Given the description of an element on the screen output the (x, y) to click on. 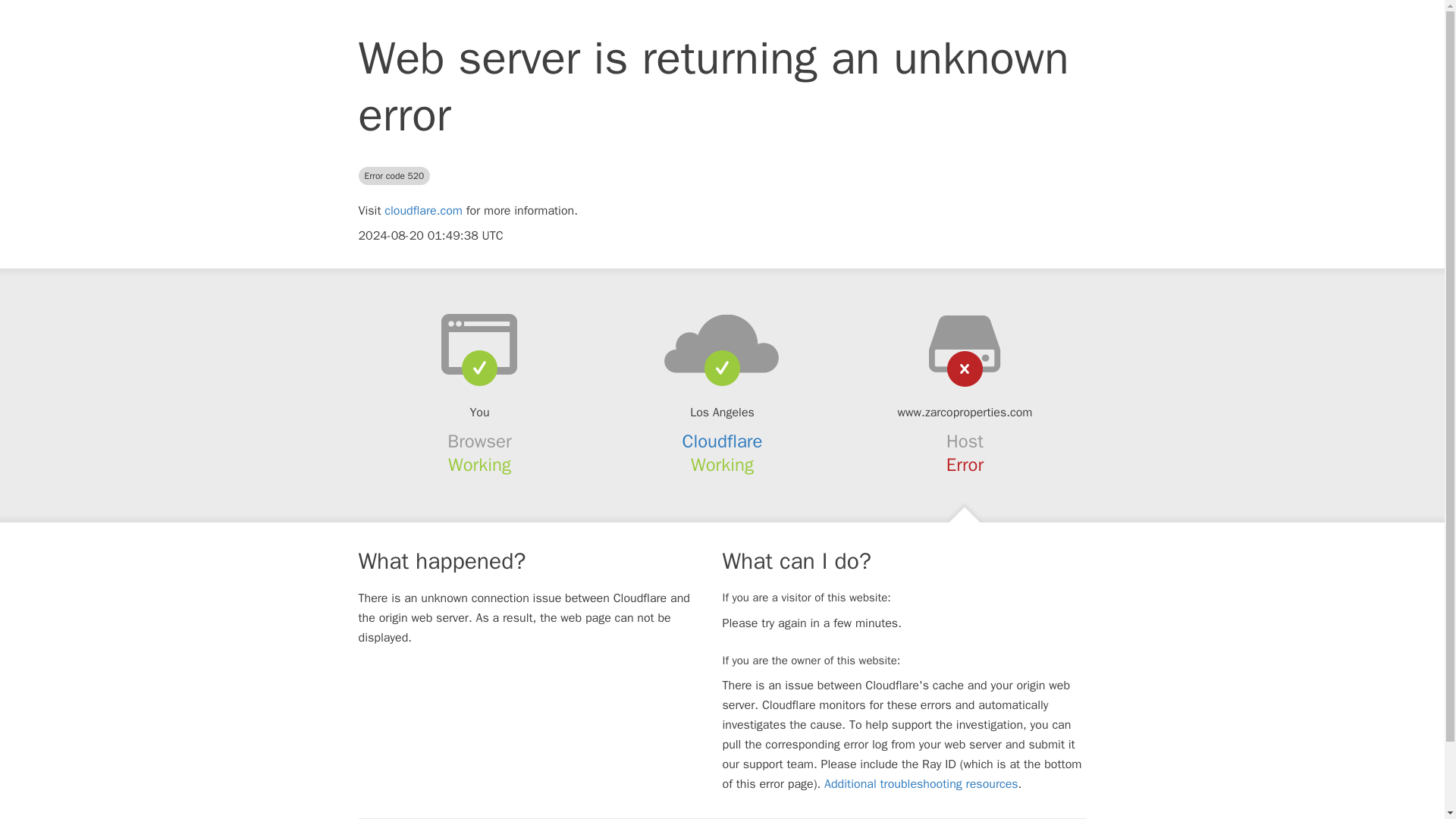
cloudflare.com (423, 210)
Cloudflare (722, 440)
Additional troubleshooting resources (920, 783)
